Given the description of an element on the screen output the (x, y) to click on. 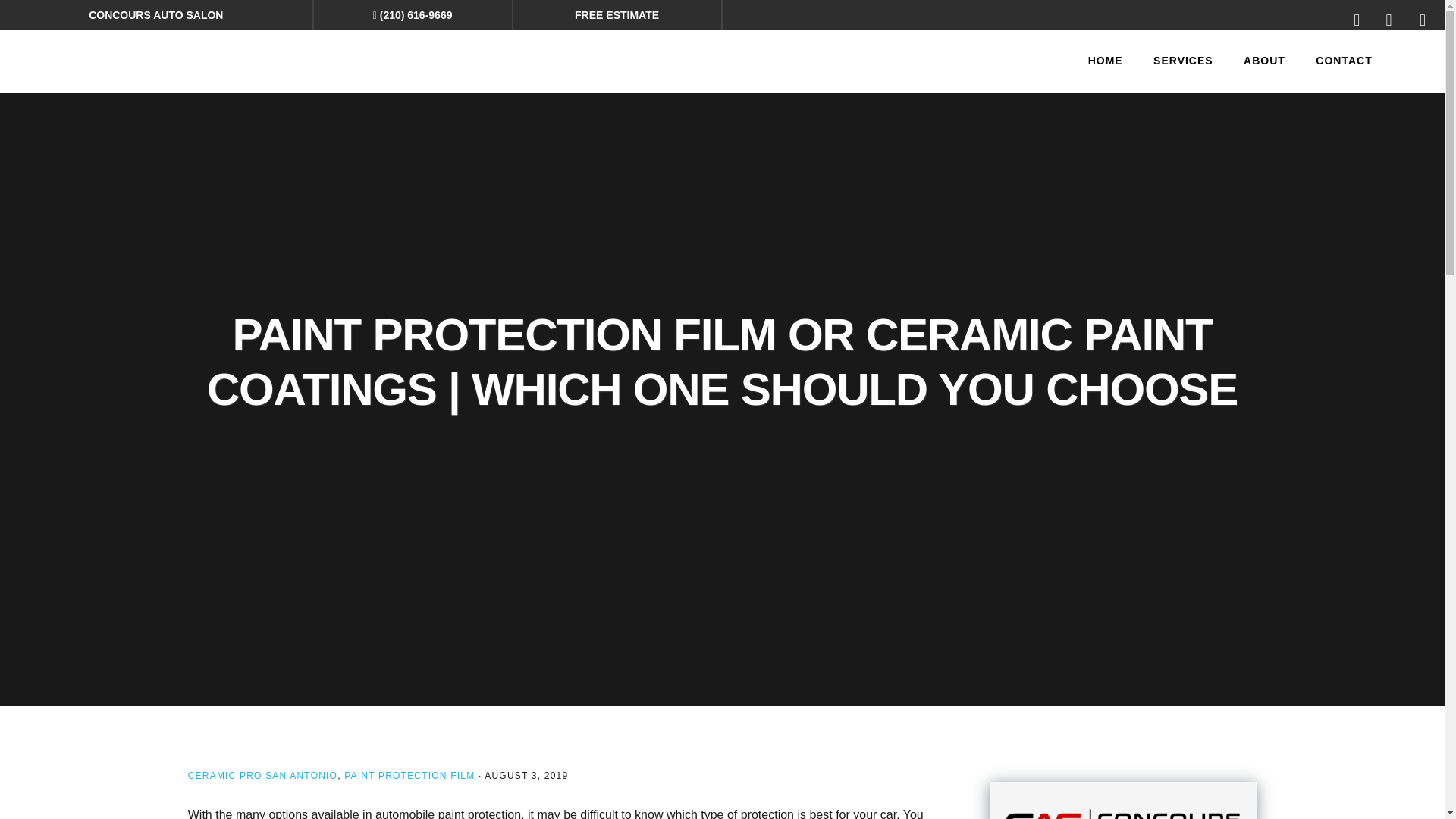
FREE ESTIMATE (617, 15)
PAINT PROTECTION FILM (408, 775)
CERAMIC PRO SAN ANTONIO (262, 775)
Concours Auto Salon (147, 58)
SERVICES (1182, 60)
